Given the description of an element on the screen output the (x, y) to click on. 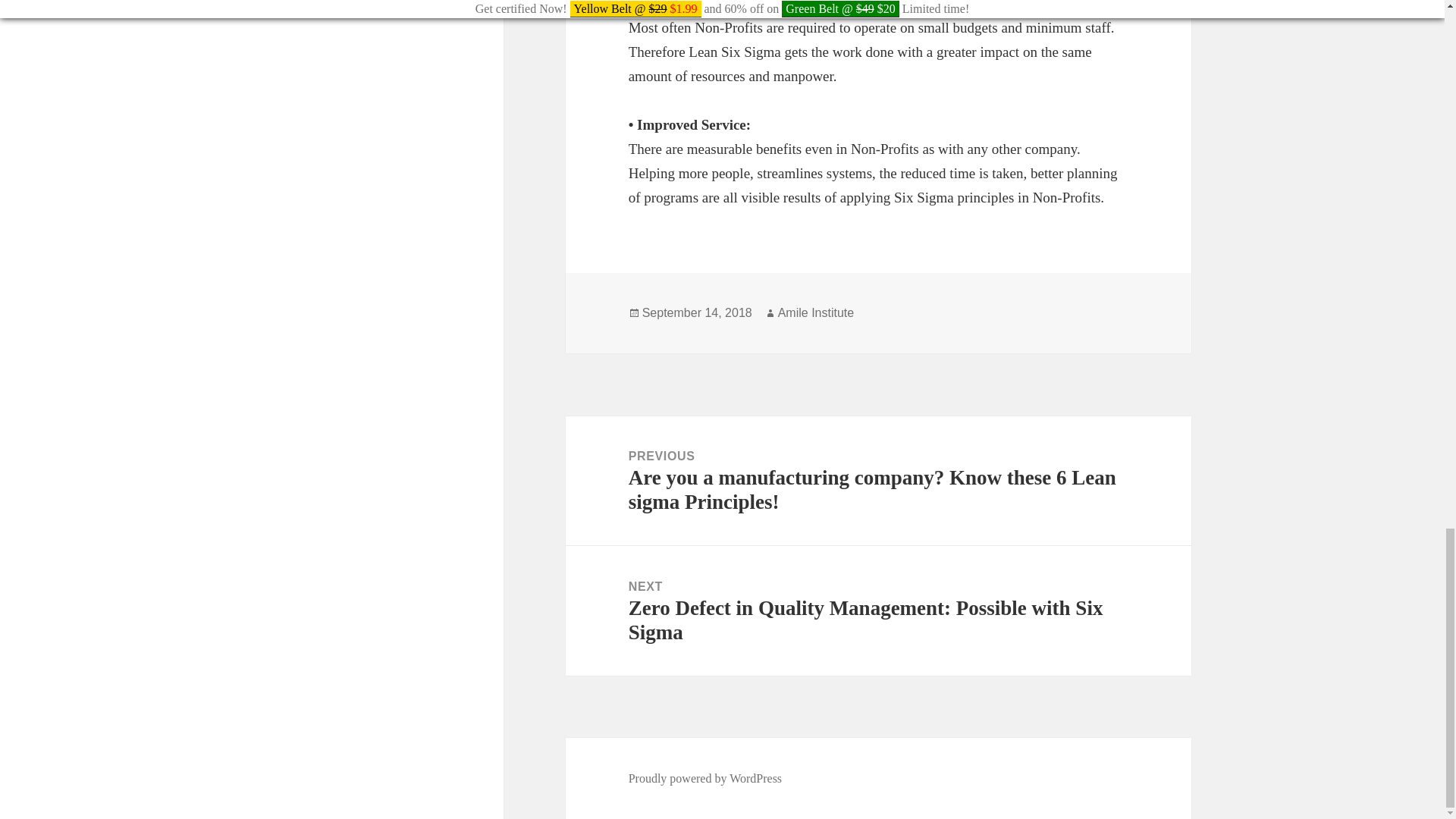
Proudly powered by WordPress (704, 778)
September 14, 2018 (697, 313)
Amile Institute (815, 313)
